Given the description of an element on the screen output the (x, y) to click on. 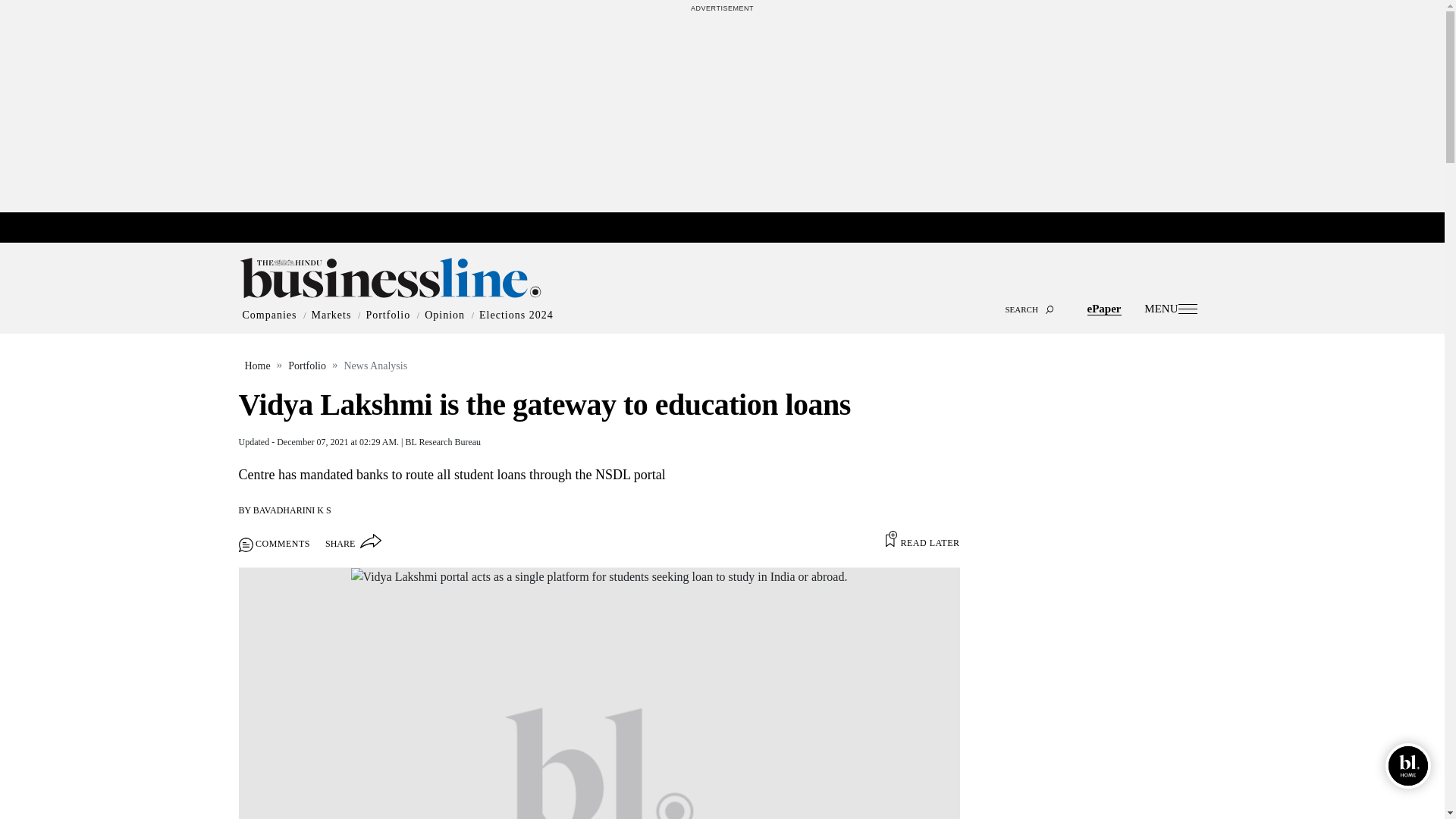
Companies (270, 315)
ePaper (1104, 308)
Opinion (444, 315)
Portfolio (387, 315)
MENU (1170, 308)
Elections 2024 (516, 315)
SEARCH (721, 295)
Markets (330, 315)
marketupdate (729, 228)
